Given the description of an element on the screen output the (x, y) to click on. 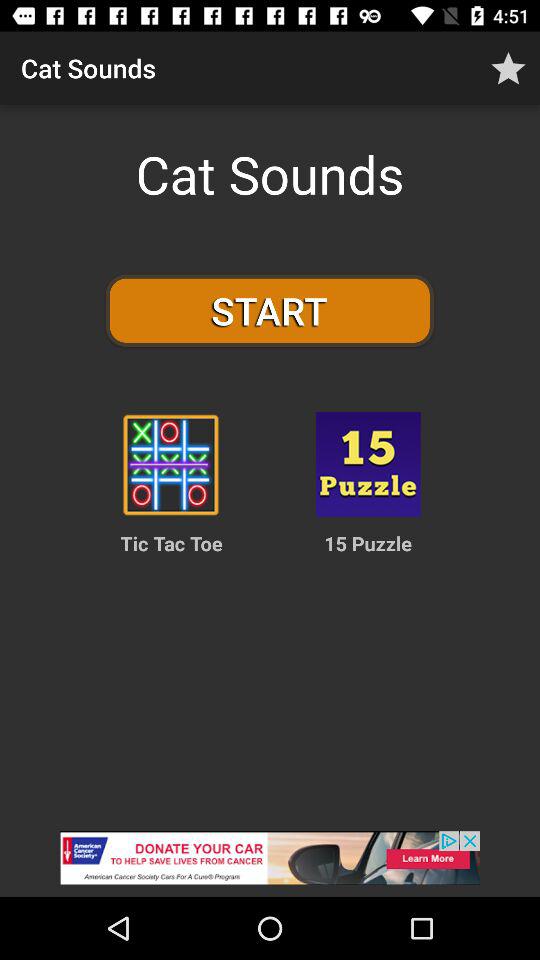
open the specific page (367, 464)
